Given the description of an element on the screen output the (x, y) to click on. 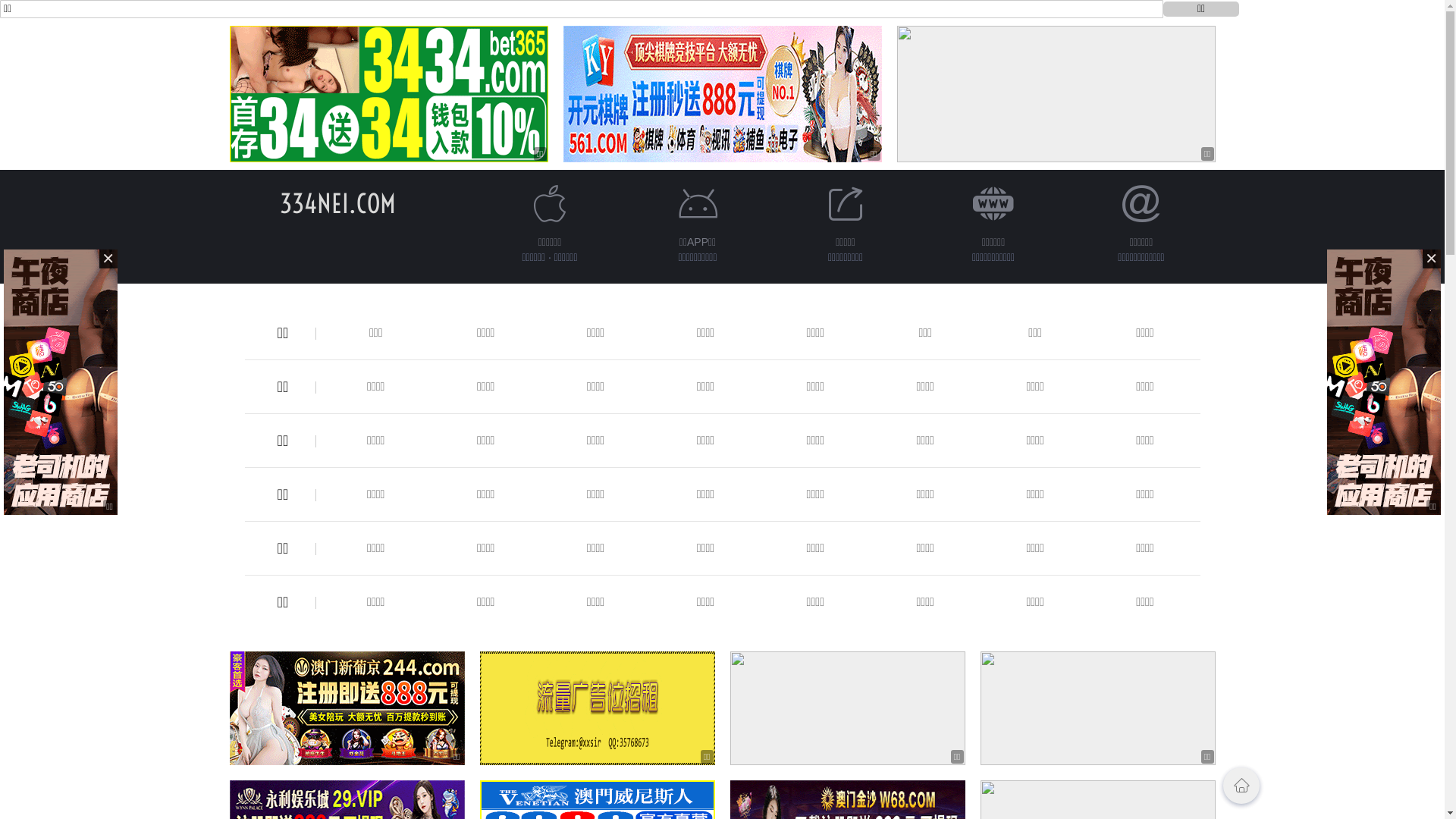
334NEI.COM Element type: text (337, 203)
